Given the description of an element on the screen output the (x, y) to click on. 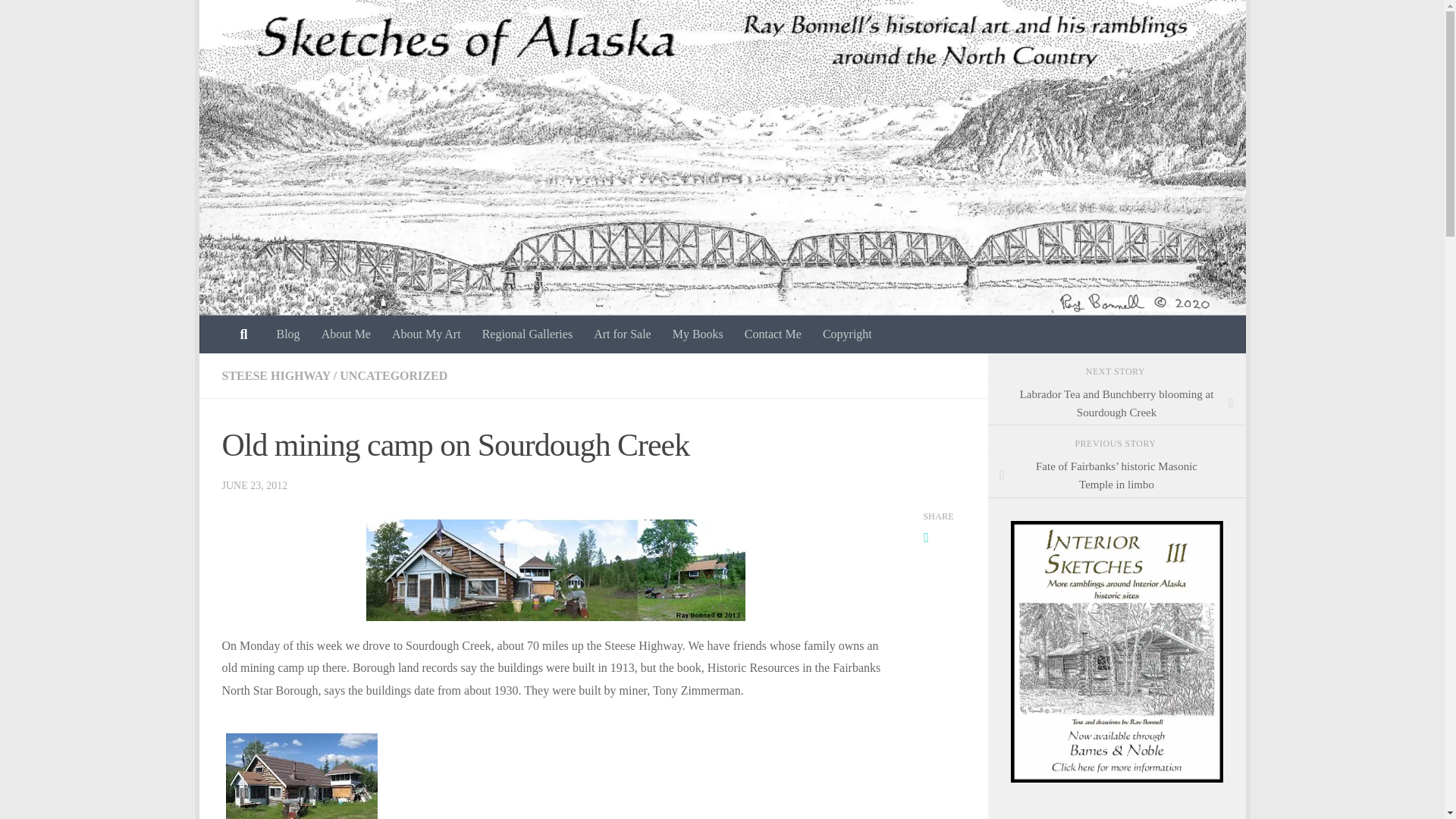
Copyright (847, 333)
Blog (287, 333)
About My Art (426, 333)
My Books (697, 333)
About Me (346, 333)
Art for Sale (622, 333)
Contact Me (772, 333)
Skip to content (258, 20)
STEESE HIGHWAY (275, 375)
Regional Galleries (527, 333)
